Given the description of an element on the screen output the (x, y) to click on. 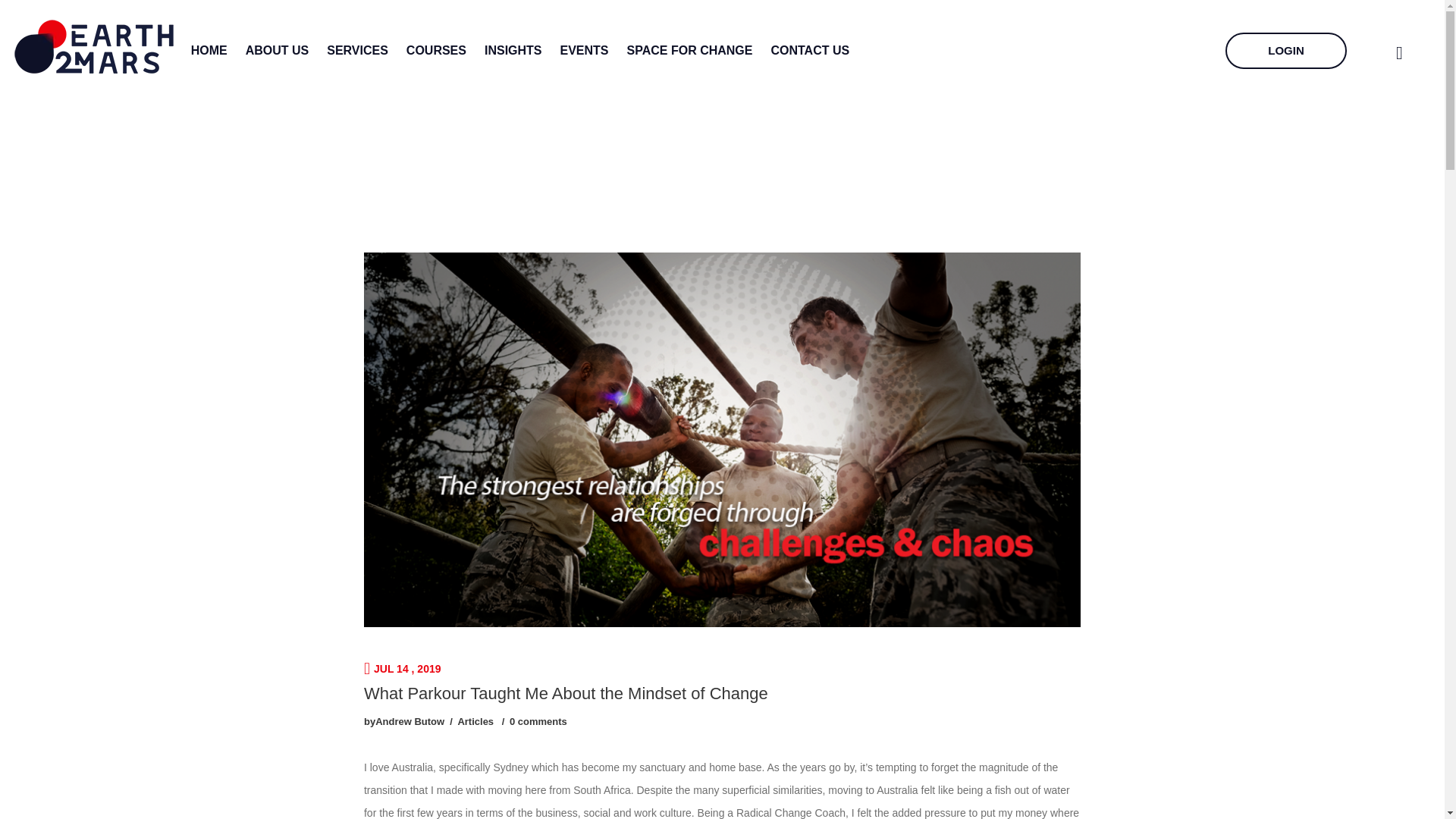
JUL 14 , 2019 (402, 668)
Posts by Andrew Butow (409, 721)
COURSES (435, 49)
CONTACT US (809, 49)
Andrew Butow (409, 721)
Articles (475, 721)
LOGIN (1285, 49)
SPACE FOR CHANGE (689, 49)
SERVICES (357, 49)
INSIGHTS (512, 49)
0 comments (538, 721)
EVENTS (584, 49)
What Parkour Taught Me About the Mindset of Change (566, 692)
ABOUT US (278, 49)
